Given the description of an element on the screen output the (x, y) to click on. 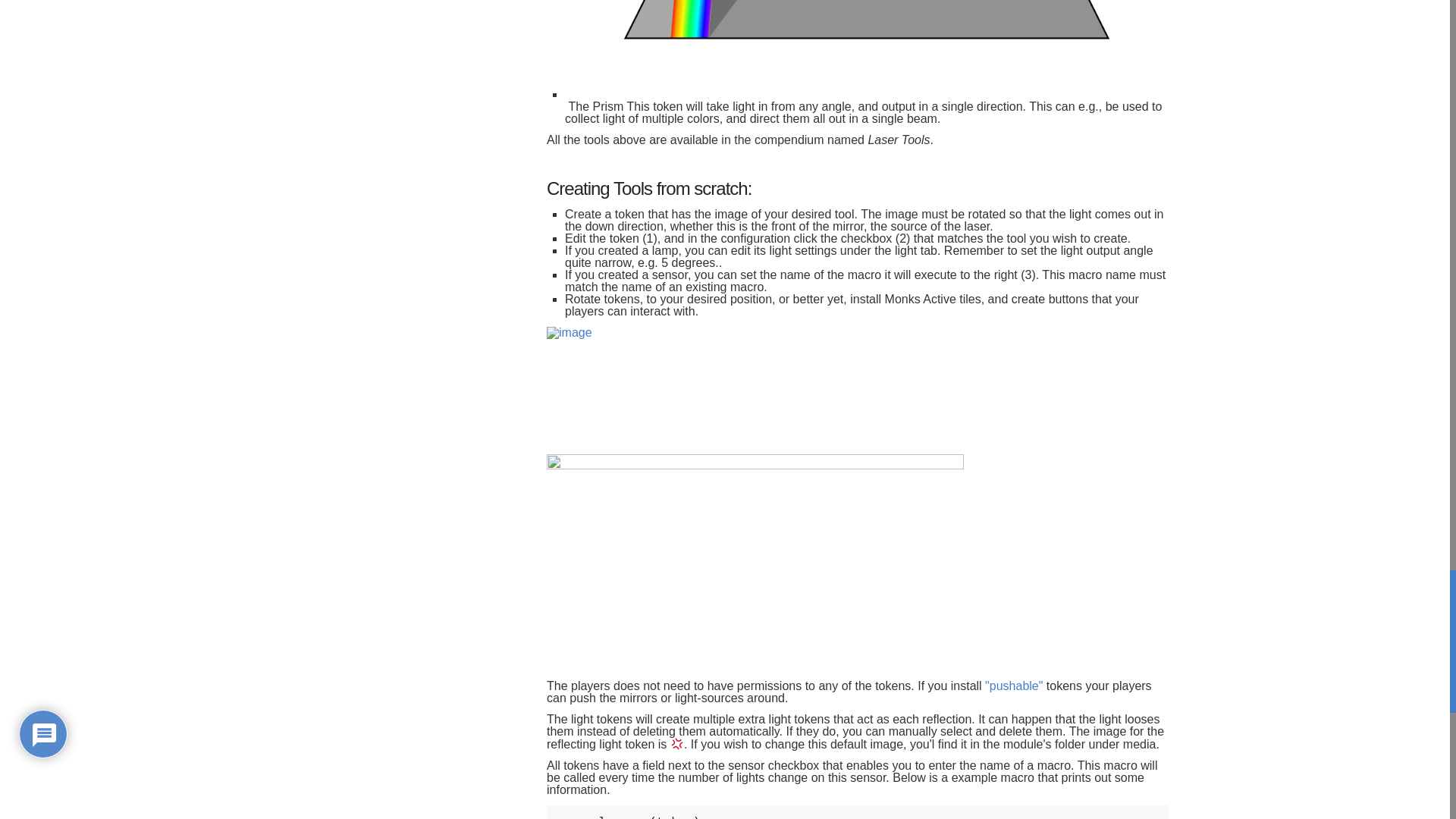
"pushable" (1013, 685)
